Given the description of an element on the screen output the (x, y) to click on. 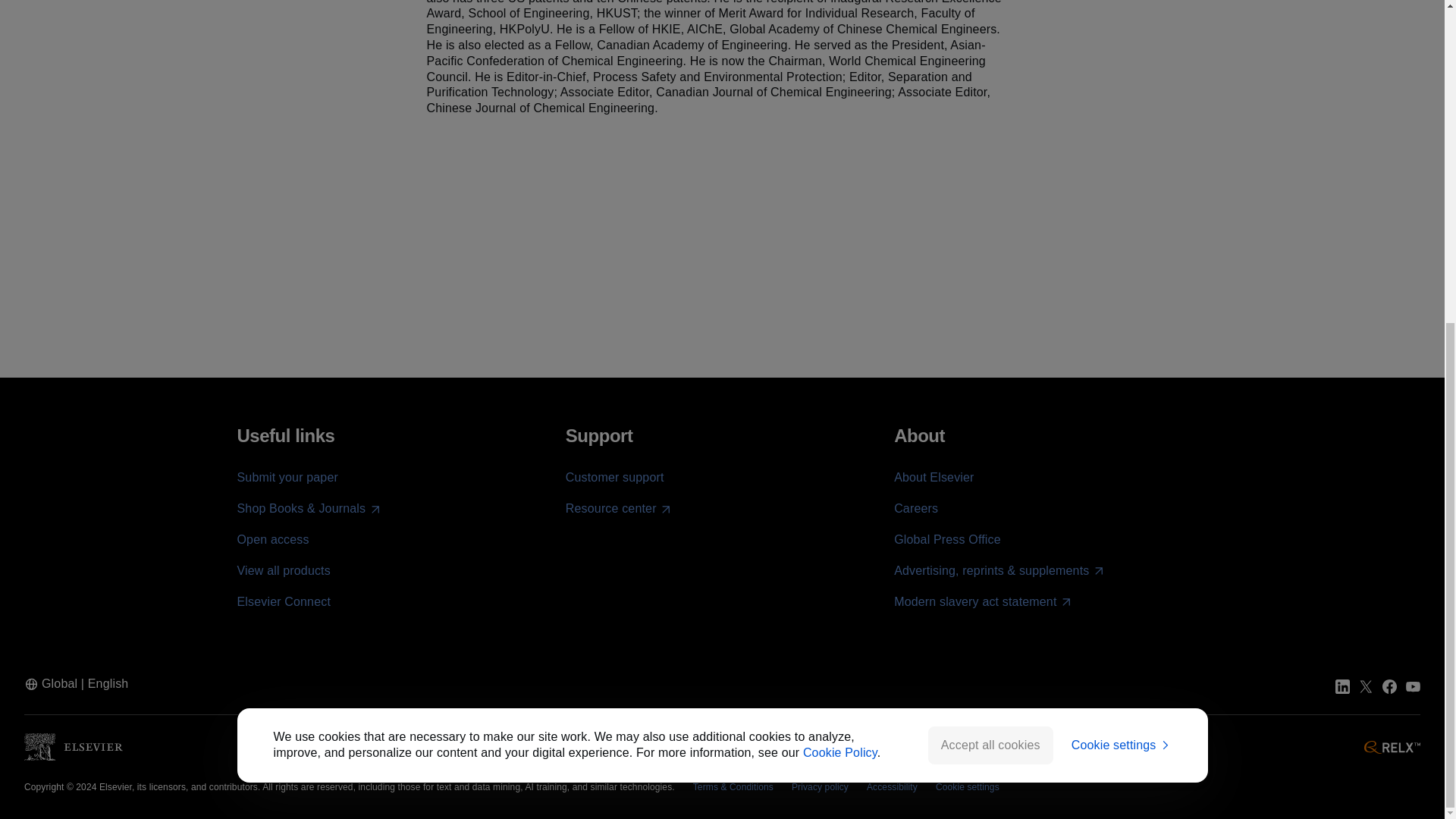
Customer support (614, 477)
Cookie settings (1121, 218)
Elsevier Connect (282, 601)
Open access (271, 539)
Resource center (618, 508)
Cookie Policy (840, 225)
About Elsevier (933, 477)
Accept all cookies (990, 218)
Careers (915, 508)
View all products (282, 570)
Submit your paper (286, 477)
